Given the description of an element on the screen output the (x, y) to click on. 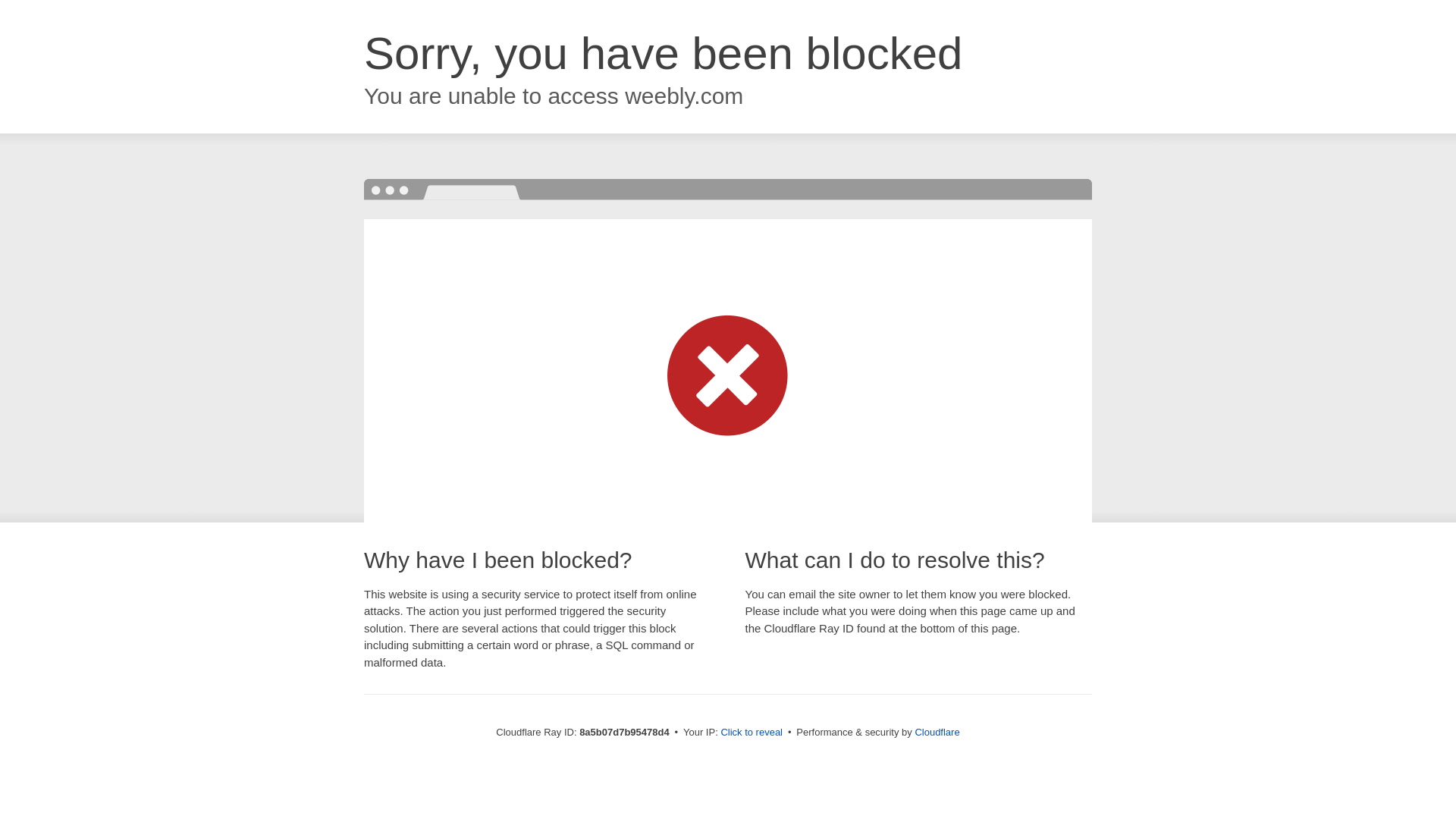
Click to reveal (751, 732)
Cloudflare (936, 731)
